Given the description of an element on the screen output the (x, y) to click on. 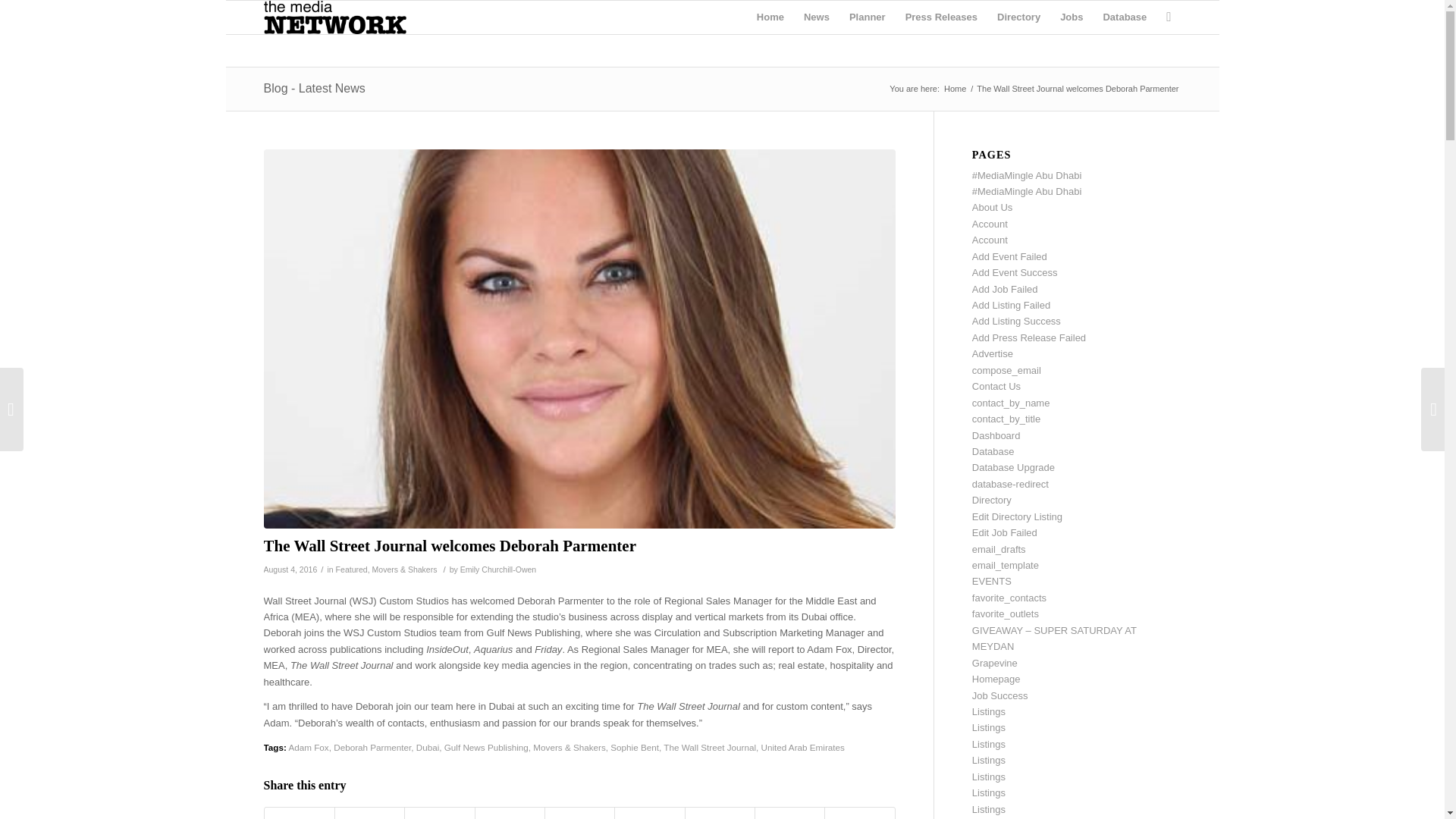
Blog - Latest News (314, 88)
Press Releases (941, 17)
Deborah Parmenter (371, 747)
Featured (352, 569)
Sophie Bent (634, 747)
United Arab Emirates (802, 747)
News (816, 17)
Home (769, 17)
Gulf News Publishing (486, 747)
The Wall Street Journal (709, 747)
Emily Churchill-Owen (498, 569)
Posts by Emily Churchill-Owen (498, 569)
Home (955, 89)
Permanent Link: Blog - Latest News (314, 88)
